Given the description of an element on the screen output the (x, y) to click on. 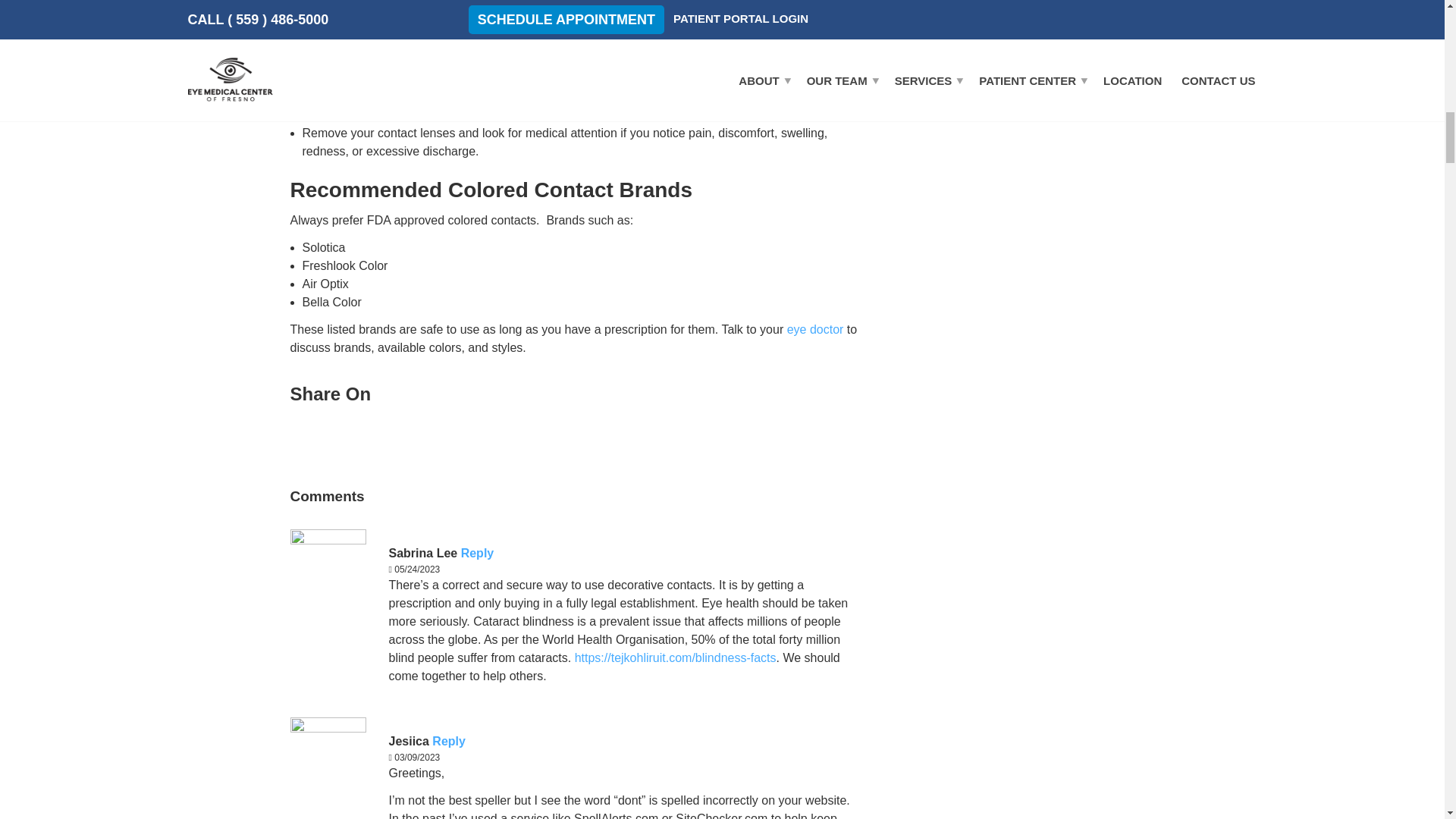
Share on Linkedin (347, 436)
Share on Twitter (386, 436)
Reply (478, 553)
eye exam (400, 42)
Share on Facebook (306, 436)
eye doctor (815, 328)
